Given the description of an element on the screen output the (x, y) to click on. 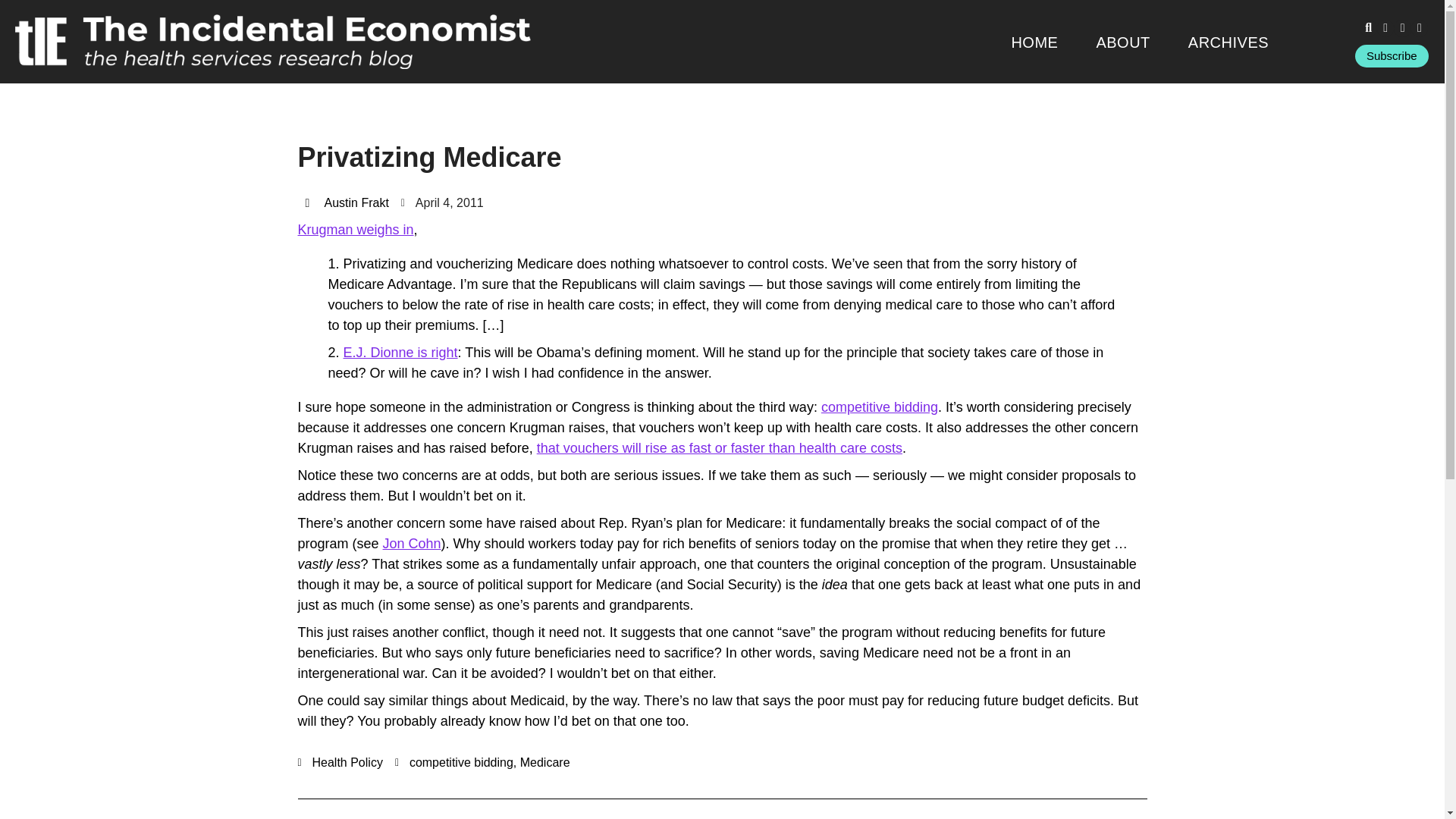
Austin Frakt (346, 203)
Krugman weighs in (355, 229)
Subscribe (1391, 56)
competitive bidding (879, 406)
Health Policy (347, 762)
ARCHIVES (1228, 41)
April 4, 2011 (442, 203)
Jon Cohn (411, 543)
competitive bidding (461, 762)
Medicare (544, 762)
E.J. Dionne is right (400, 352)
HOME (1034, 41)
ABOUT (1122, 41)
